Given the description of an element on the screen output the (x, y) to click on. 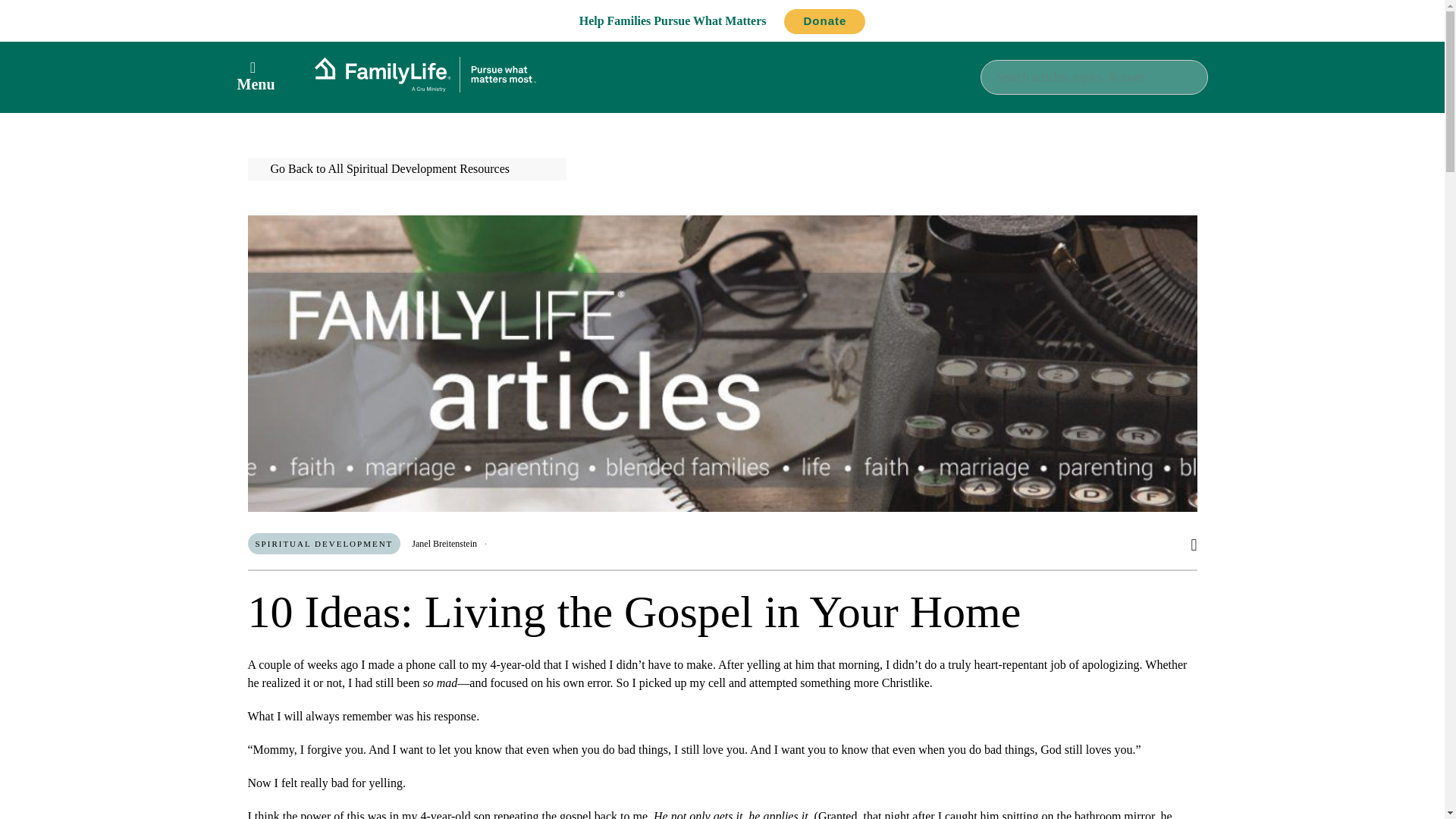
Search for: (1093, 76)
Help Families Pursue What Matters Donate (722, 20)
Go Back to All Spiritual Development Resources (406, 169)
Donate (824, 21)
SPIRITUAL DEVELOPMENT (323, 543)
